Given the description of an element on the screen output the (x, y) to click on. 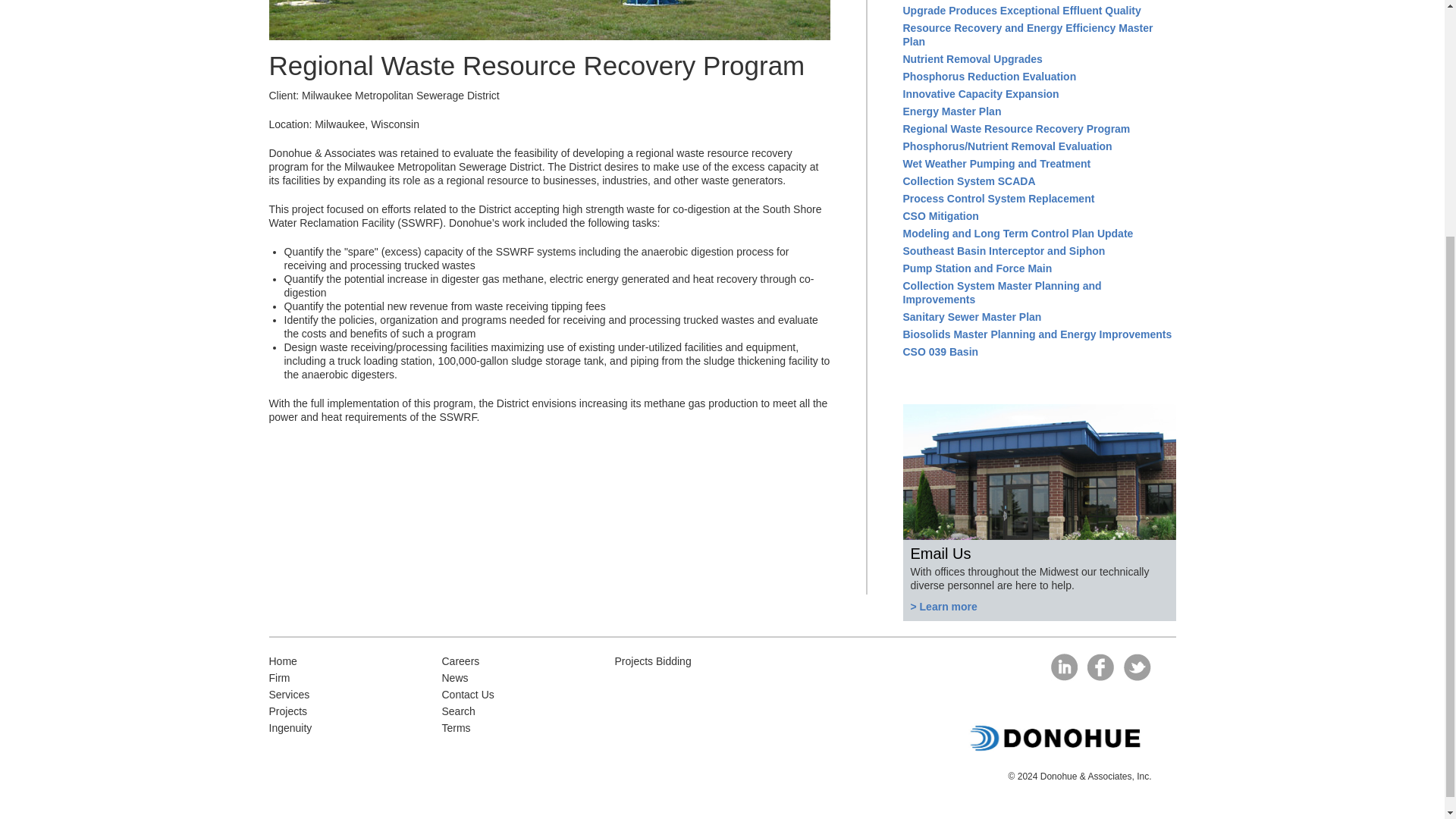
Go to the Nutrient Removal Upgrades page (972, 59)
Go to the Upgrade Produces Exceptional Effluent Quality page (1021, 10)
Go to the Phosphorus Reduction Evaluation page (988, 76)
